Given the description of an element on the screen output the (x, y) to click on. 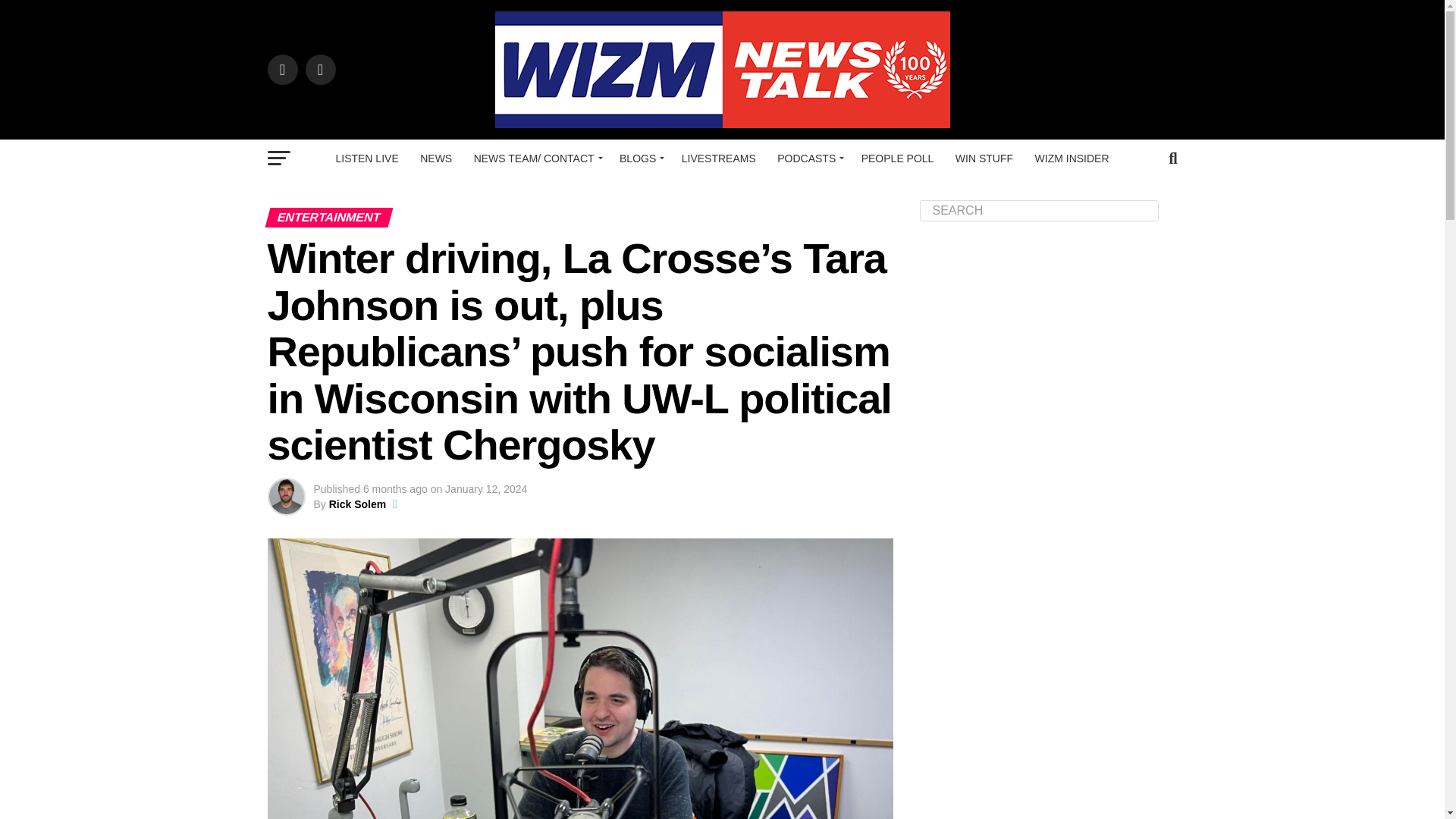
LIVESTREAMS (718, 158)
LISTEN LIVE (366, 158)
BLOGS (639, 158)
NEWS (435, 158)
Search (1038, 210)
